Given the description of an element on the screen output the (x, y) to click on. 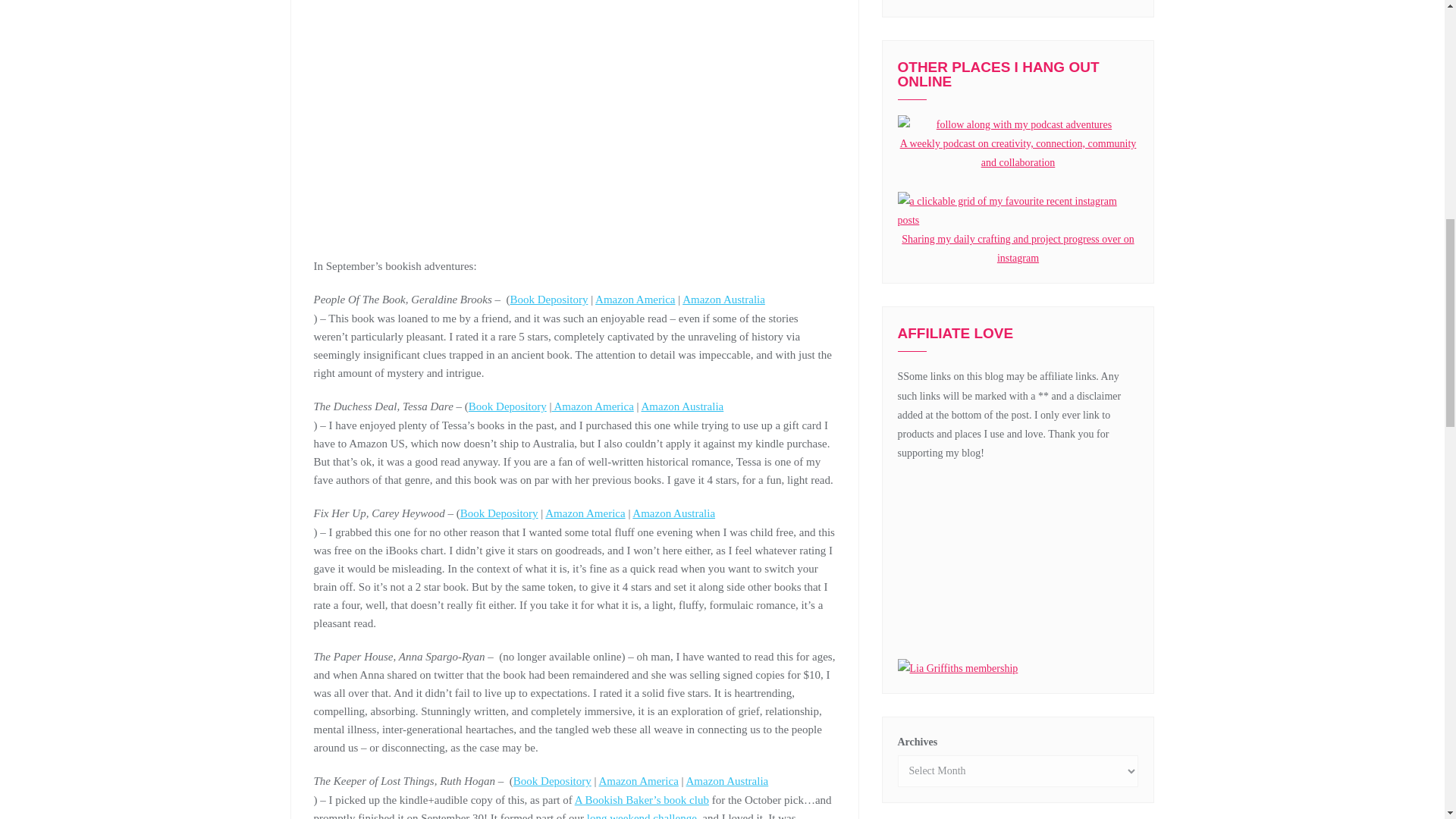
Amazon Australia (574, 522)
 Amazon America (592, 406)
Amazon America (584, 512)
Amazon America (635, 299)
long weekend challenge (641, 815)
Book Depository (552, 780)
Amazon Australia (574, 415)
Amazon America (638, 780)
Book Depository (548, 299)
Book Depository (499, 512)
